Given the description of an element on the screen output the (x, y) to click on. 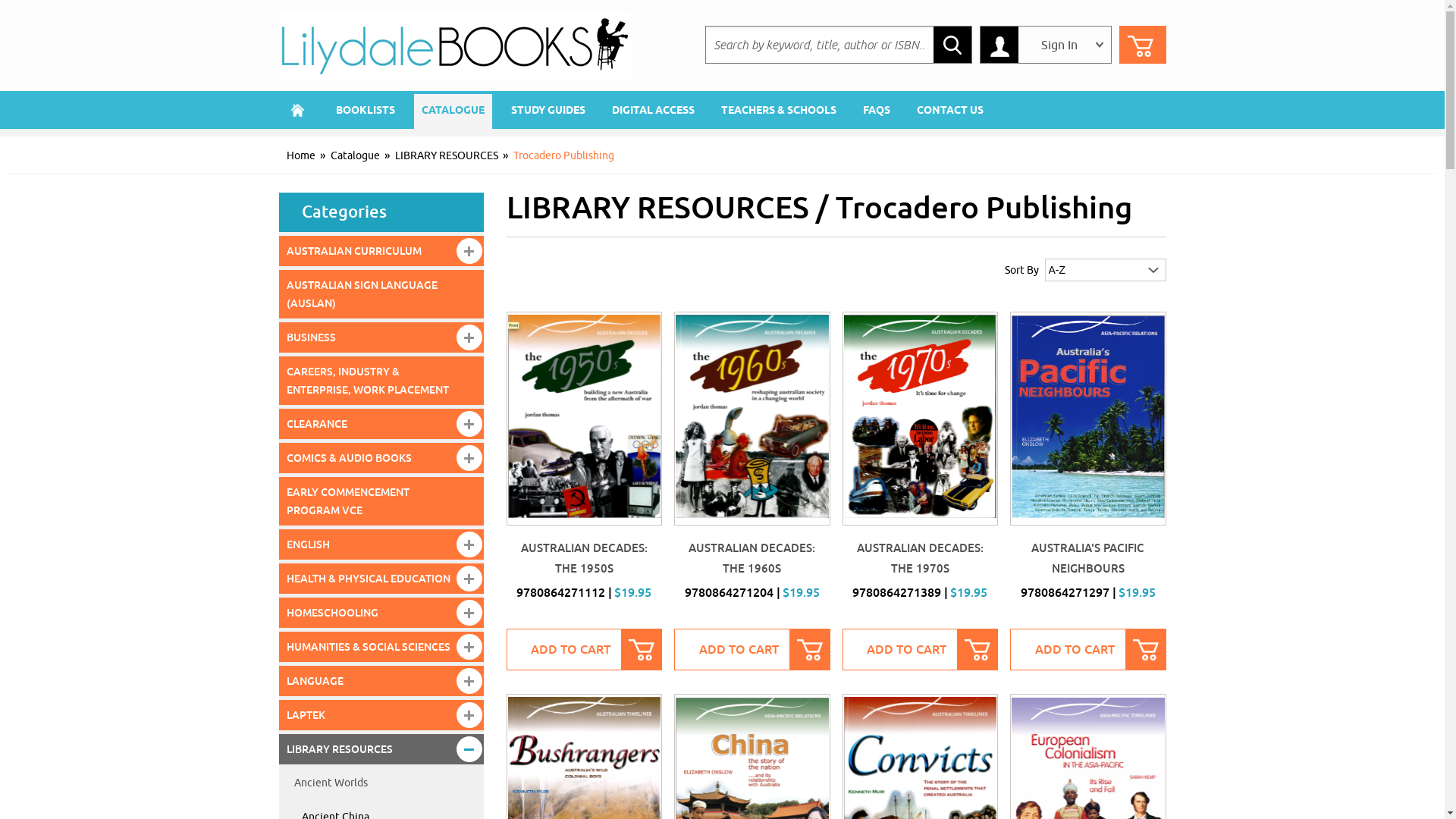
  Element type: text (297, 109)
Catalogue Element type: text (354, 155)
HUMANITIES & SOCIAL SCIENCES Element type: text (381, 646)
AUSTRALIAN DECADES: THE 1960S Element type: hover (751, 418)
HOMESCHOOLING Element type: text (381, 612)
AUSTRALIAN DECADES: THE 1970S Element type: text (919, 557)
CAREERS, INDUSTRY & ENTERPRISE, WORK PLACEMENT Element type: text (381, 380)
COMICS & AUDIO BOOKS Element type: text (381, 457)
Home Element type: hover (297, 109)
LIBRARY RESOURCES Element type: text (445, 155)
Ancient Worlds Element type: text (381, 783)
AUSTRALIAN SIGN LANGUAGE (AUSLAN) Element type: text (381, 293)
AUSTRALIAN CURRICULUM Element type: text (381, 250)
AUSTRALIA'S PACIFIC NEIGHBOURS Element type: hover (1087, 418)
AUSTRALIAN DECADES: THE 1950S Element type: text (583, 557)
View Items Element type: hover (1142, 44)
LAPTEK Element type: text (381, 714)
TEACHERS & SCHOOLS Element type: text (777, 109)
CATALOGUE Element type: text (453, 109)
ADD TO CART Element type: text (1088, 649)
STUDY GUIDES Element type: text (548, 109)
CLEARANCE Element type: text (381, 423)
Home Element type: text (300, 155)
FAQS Element type: text (876, 109)
AUSTRALIAN DECADES: THE 1950S Element type: hover (583, 418)
HEALTH & PHYSICAL EDUCATION Element type: text (381, 578)
LANGUAGE Element type: text (381, 680)
ENGLISH Element type: text (381, 544)
DIGITAL ACCESS Element type: text (652, 109)
ADD TO CART Element type: text (919, 649)
ADD TO CART Element type: text (584, 649)
CONTACT US Element type: text (949, 109)
AUSTRALIAN DECADES: THE 1960S Element type: text (751, 557)
BUSINESS Element type: text (381, 337)
LIBRARY RESOURCES Element type: text (381, 749)
BOOKLISTS Element type: text (364, 109)
EARLY COMMENCEMENT PROGRAM VCE Element type: text (381, 500)
AUSTRALIAN DECADES: THE 1970S Element type: hover (920, 418)
AUSTRALIA'S PACIFIC NEIGHBOURS Element type: text (1087, 557)
ADD TO CART Element type: text (752, 649)
